Given the description of an element on the screen output the (x, y) to click on. 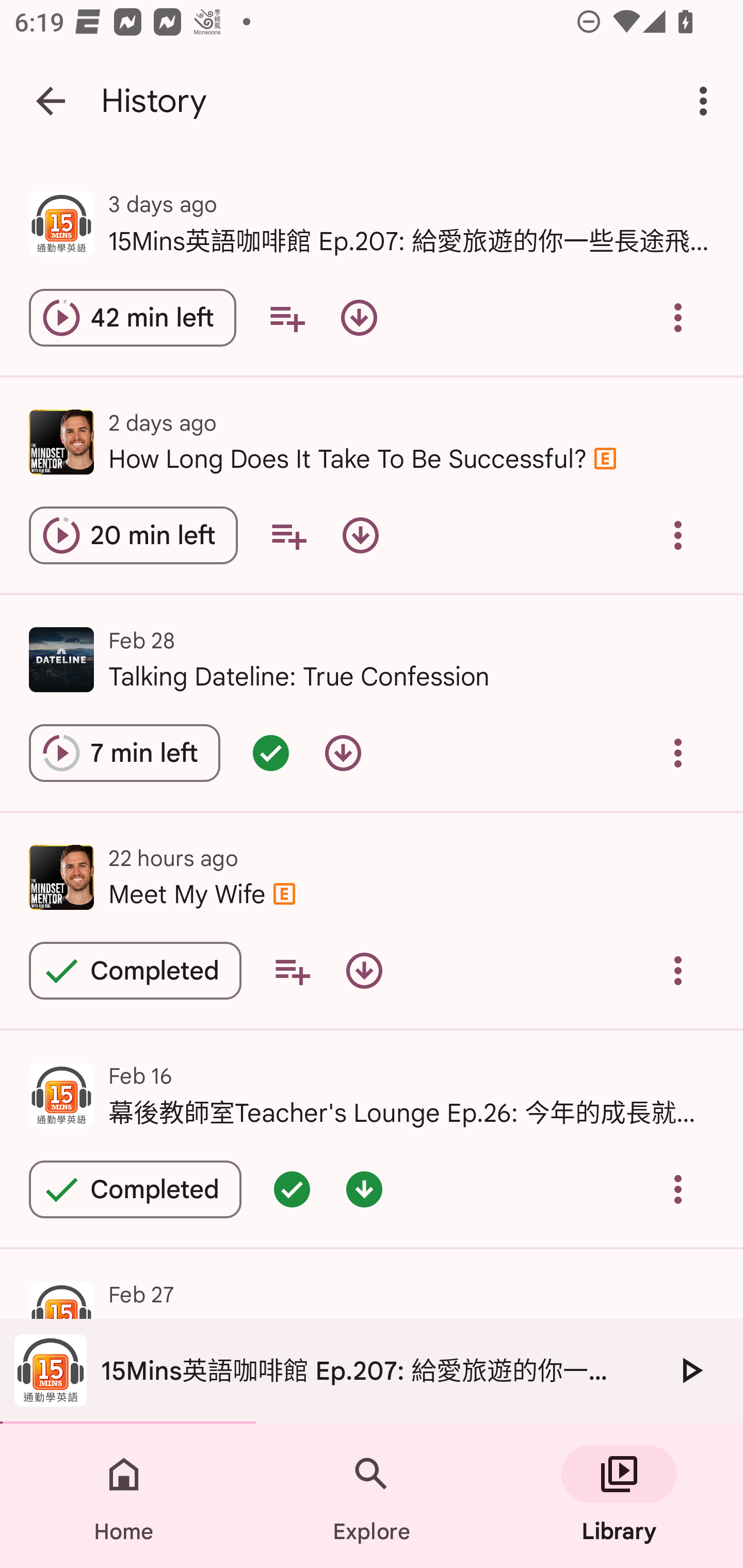
Navigate up (50, 101)
More options (706, 101)
Add to your queue (287, 317)
Download episode (359, 317)
Overflow menu (677, 317)
Add to your queue (288, 535)
Download episode (360, 535)
Overflow menu (677, 535)
Episode queued - double tap for options (270, 753)
Download episode (342, 753)
Overflow menu (677, 753)
Play episode Meet My Wife Completed (134, 970)
Add to your queue (291, 970)
Download episode (364, 970)
Overflow menu (677, 970)
Episode queued - double tap for options (291, 1189)
Episode downloaded - double tap for options (364, 1189)
Overflow menu (677, 1189)
Play (690, 1370)
Home (123, 1495)
Explore (371, 1495)
